Given the description of an element on the screen output the (x, y) to click on. 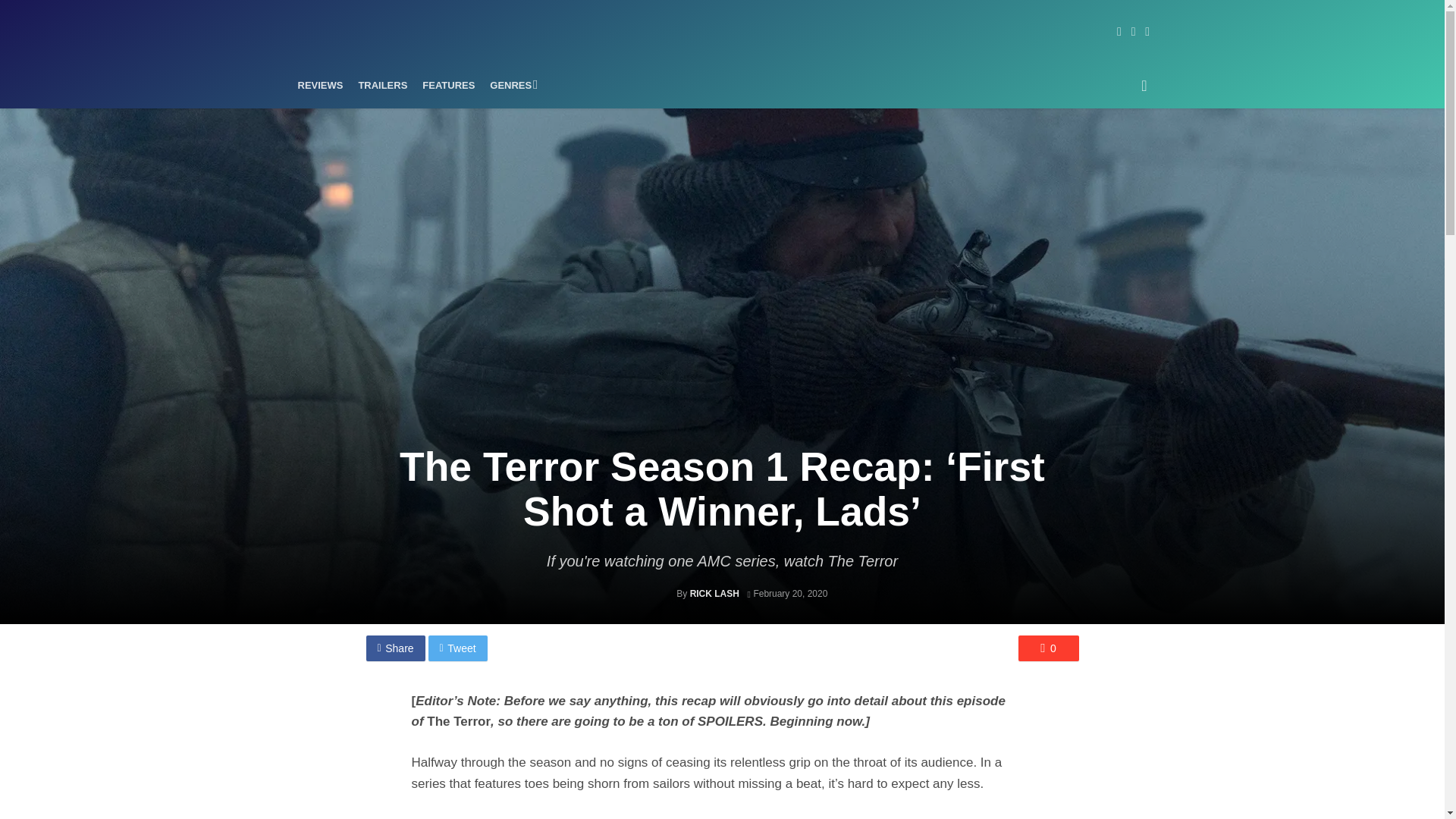
TRAILERS (382, 85)
February 20, 2020 at 1:55 pm (786, 593)
GENRES (511, 85)
Tweet (457, 647)
FEATURES (447, 85)
Posts by Rick Lash (714, 593)
REVIEWS (319, 85)
RICK LASH (714, 593)
0 (1047, 647)
Share (395, 647)
Genres (511, 85)
